Given the description of an element on the screen output the (x, y) to click on. 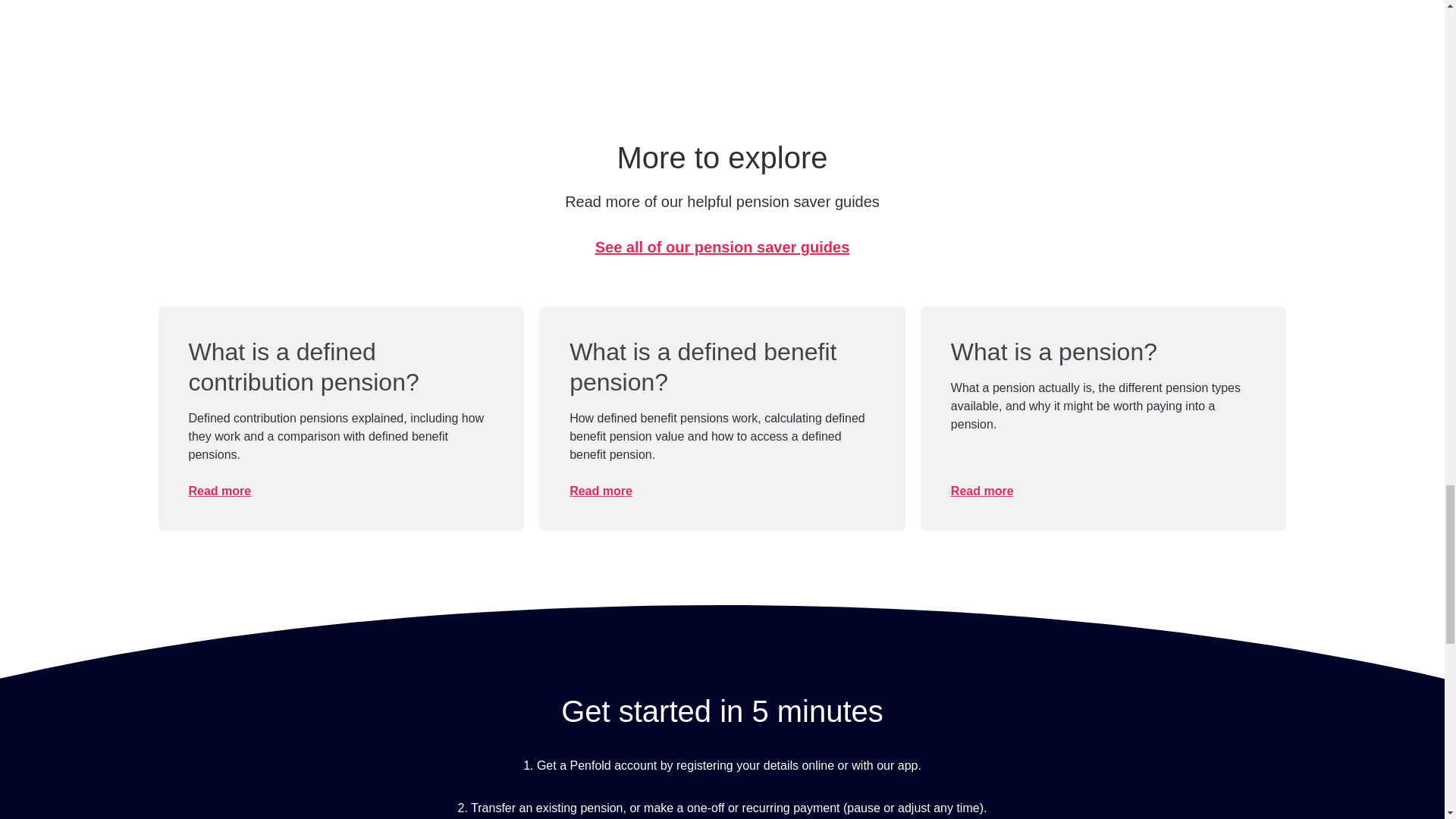
See all of our pension saver guides (721, 246)
